Given the description of an element on the screen output the (x, y) to click on. 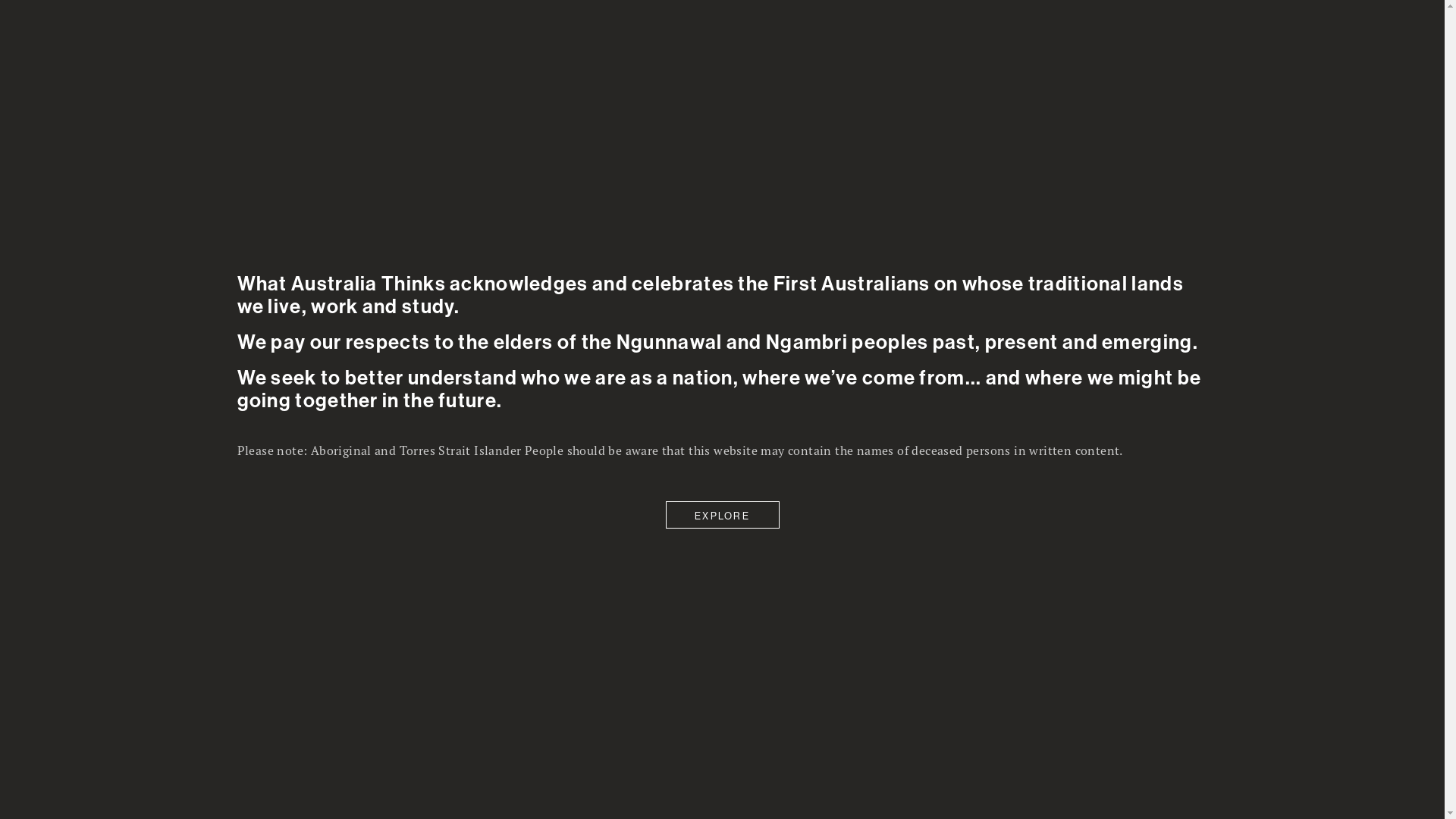
DECLINE Element type: text (652, 777)
Read more Element type: text (437, 736)
What Australia Thinks... Element type: text (89, 20)
EXPLORE Element type: text (721, 514)
Relationships Element type: text (347, 66)
ACCEPT Element type: text (482, 777)
